Given the description of an element on the screen output the (x, y) to click on. 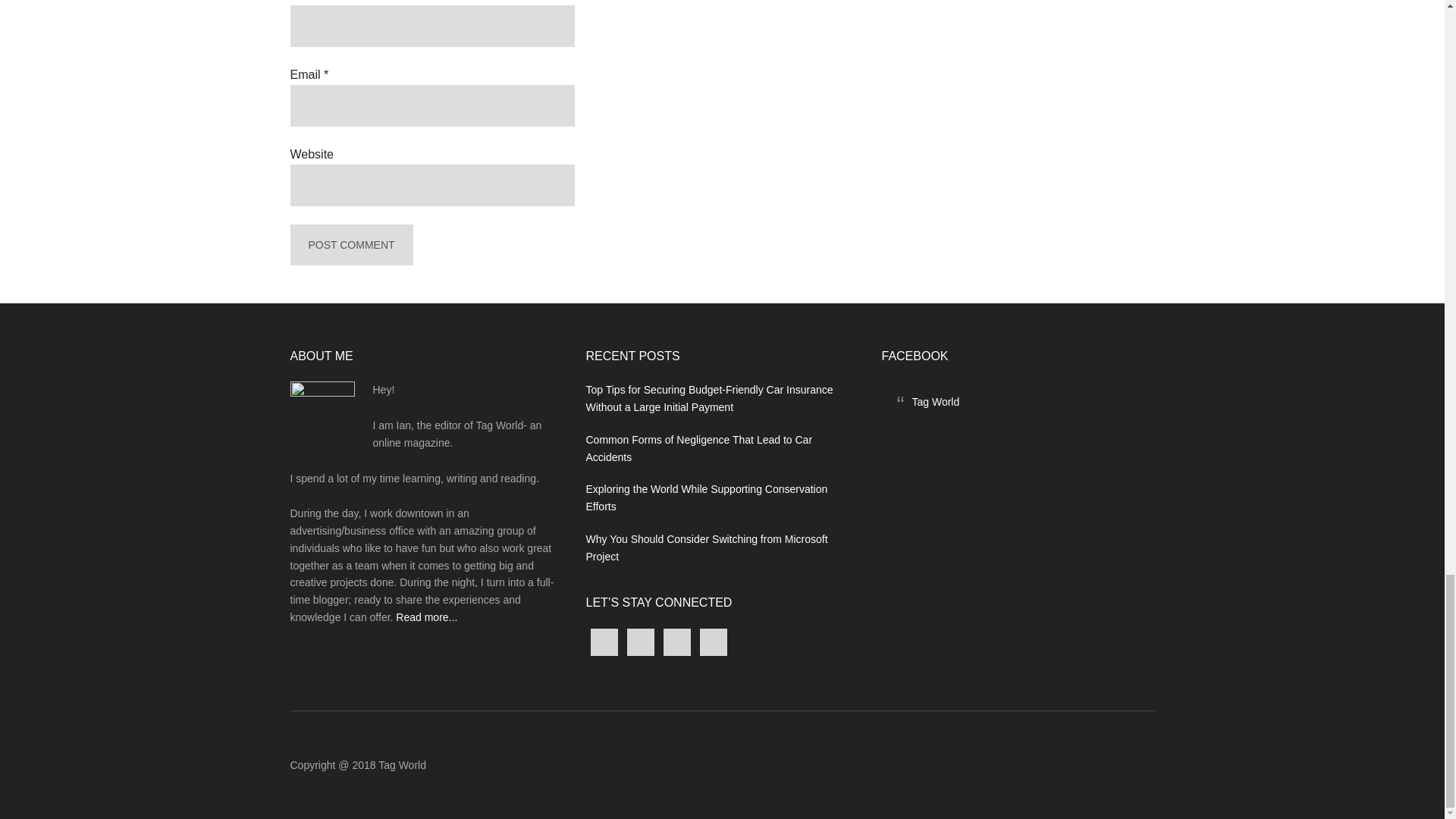
Post Comment (350, 245)
Post Comment (350, 245)
